Given the description of an element on the screen output the (x, y) to click on. 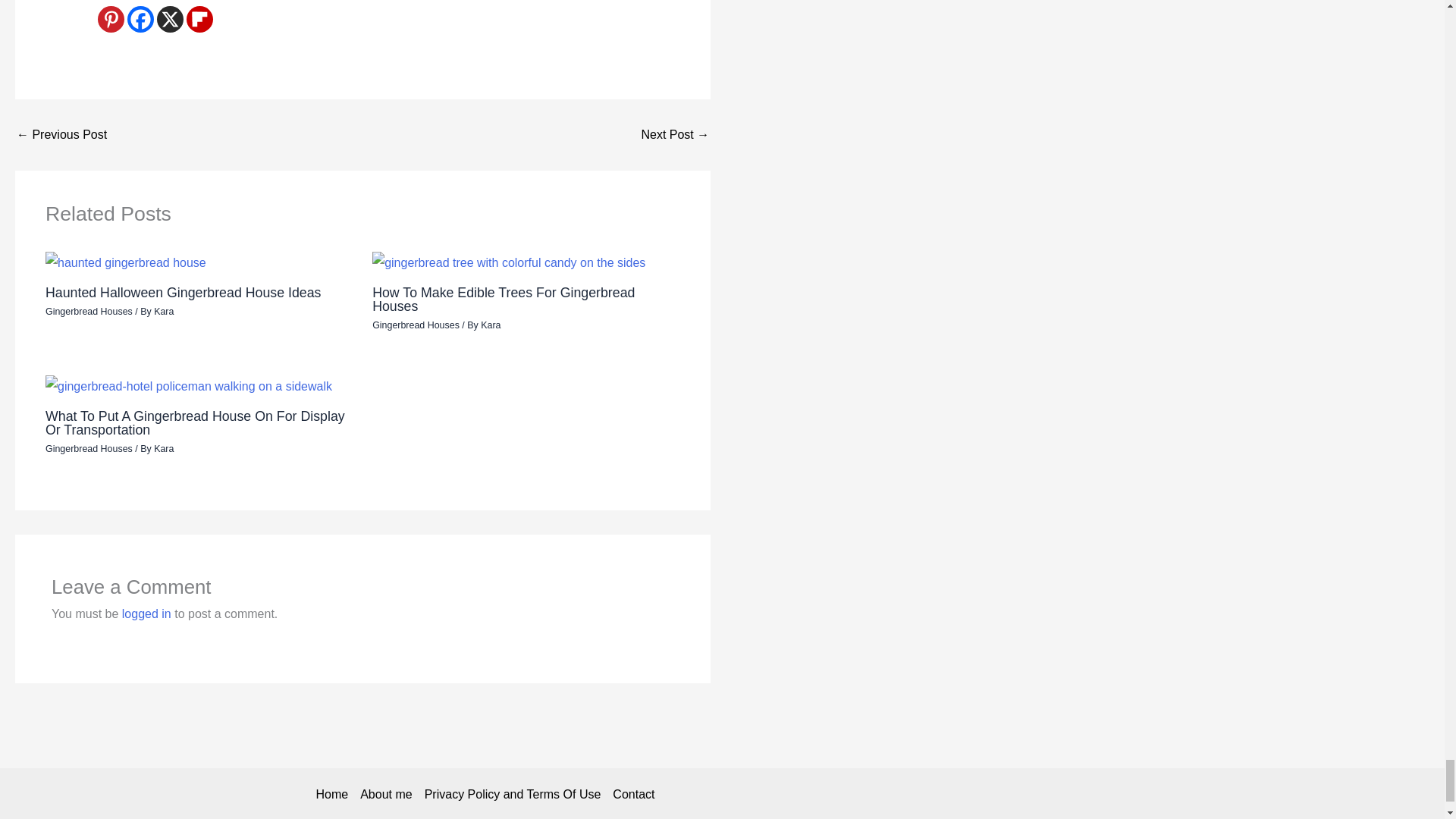
How To Mail A Gingerbread House (61, 134)
Flipboard (199, 18)
Pinterest (110, 18)
Facebook (141, 18)
X (170, 18)
View all posts by Kara (163, 311)
What Should You Do With An Old Gingerbread House? (674, 134)
